Given the description of an element on the screen output the (x, y) to click on. 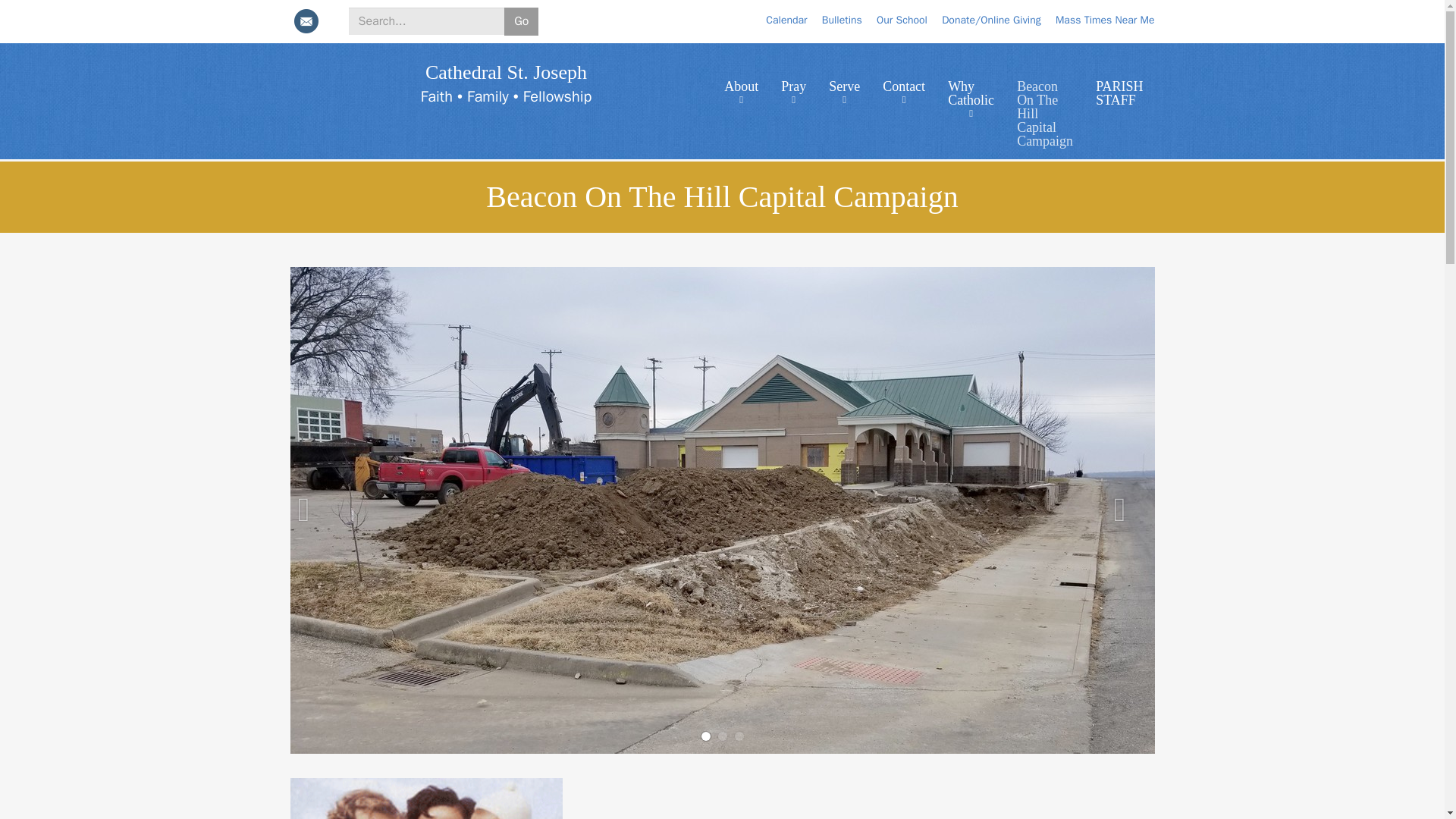
Calendar (785, 19)
Contact (903, 85)
E-Mail (306, 21)
Go (520, 21)
Why Catholic (971, 92)
Beacon on the Hill (869, 798)
Cathedral St. Joseph (505, 72)
About (741, 85)
Our School (901, 19)
Serve (843, 85)
Pray (793, 85)
Bulletins (841, 19)
Mass Times Near Me (1104, 19)
